Given the description of an element on the screen output the (x, y) to click on. 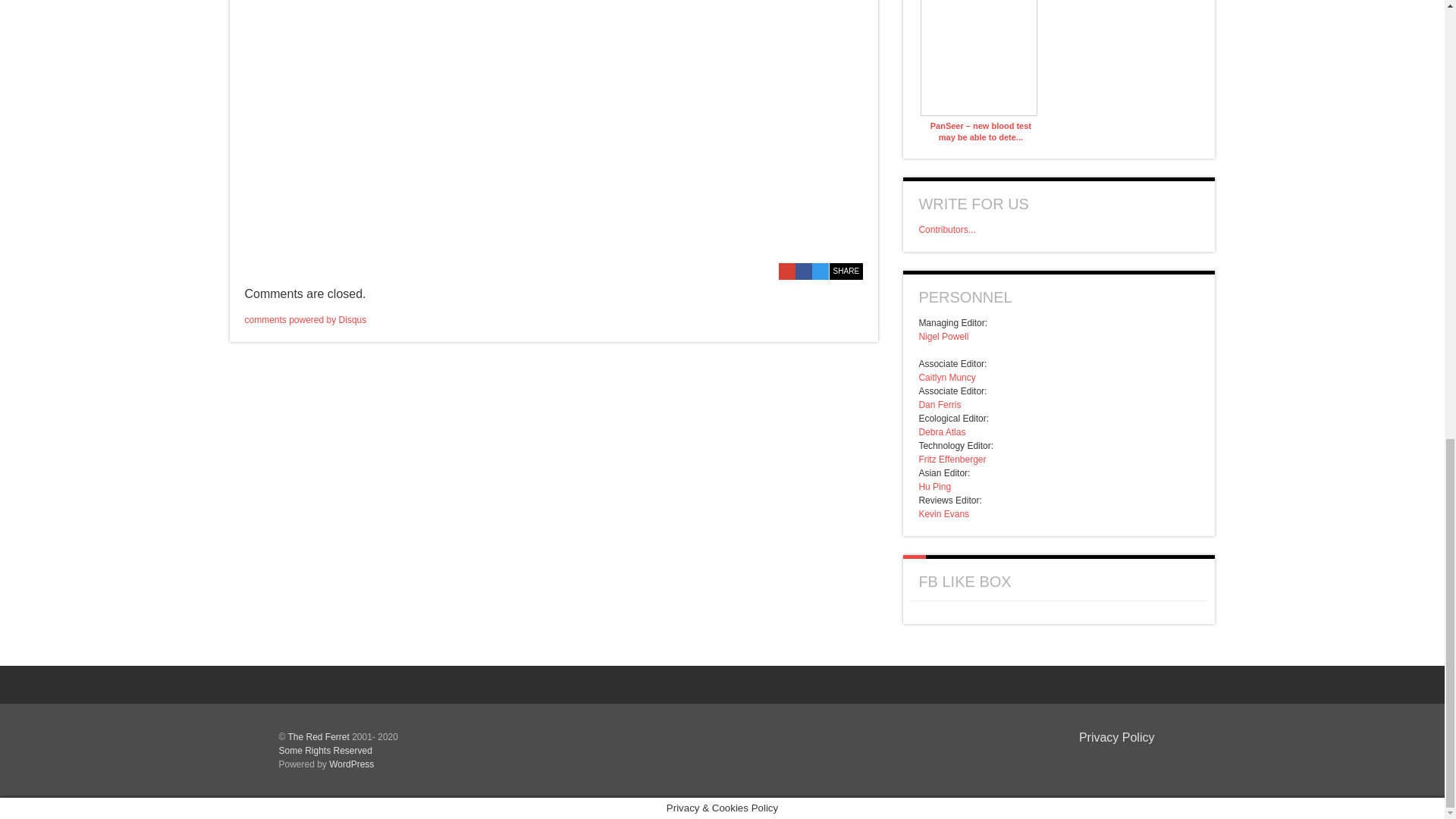
Dan Ferris (939, 404)
Nigel Powell (943, 336)
Fritz Effenberger (951, 459)
Debra Atlas (941, 431)
SHARE (846, 271)
I like this article (855, 250)
Caitlyn Muncy (946, 377)
Built by Bairwell (1130, 761)
comments powered by Disqus (305, 319)
Kevin Evans (943, 513)
The Red Ferret (317, 737)
Hu Ping (934, 486)
Contributors... (946, 229)
